Given the description of an element on the screen output the (x, y) to click on. 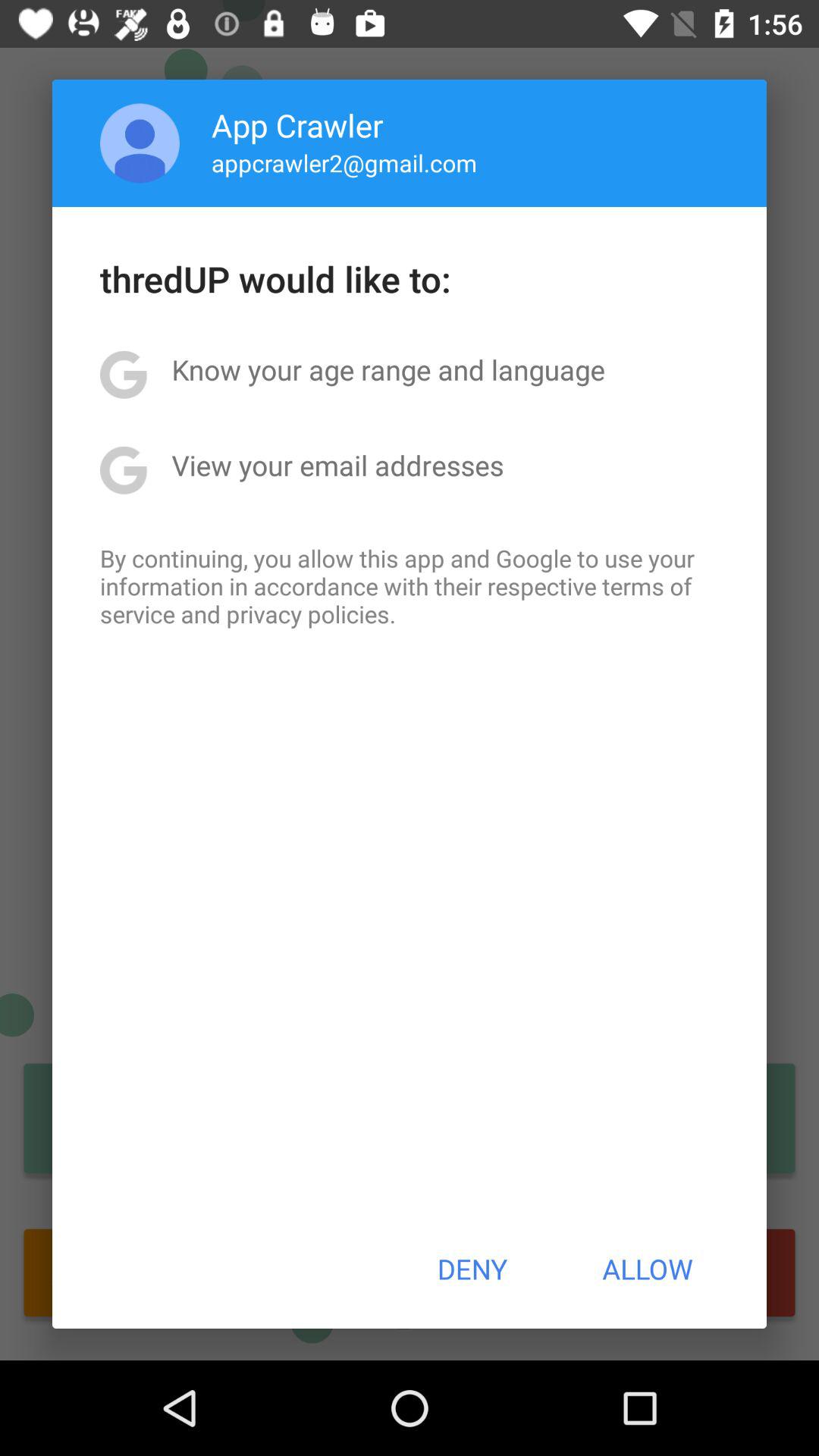
turn on the app above the thredup would like item (344, 162)
